Given the description of an element on the screen output the (x, y) to click on. 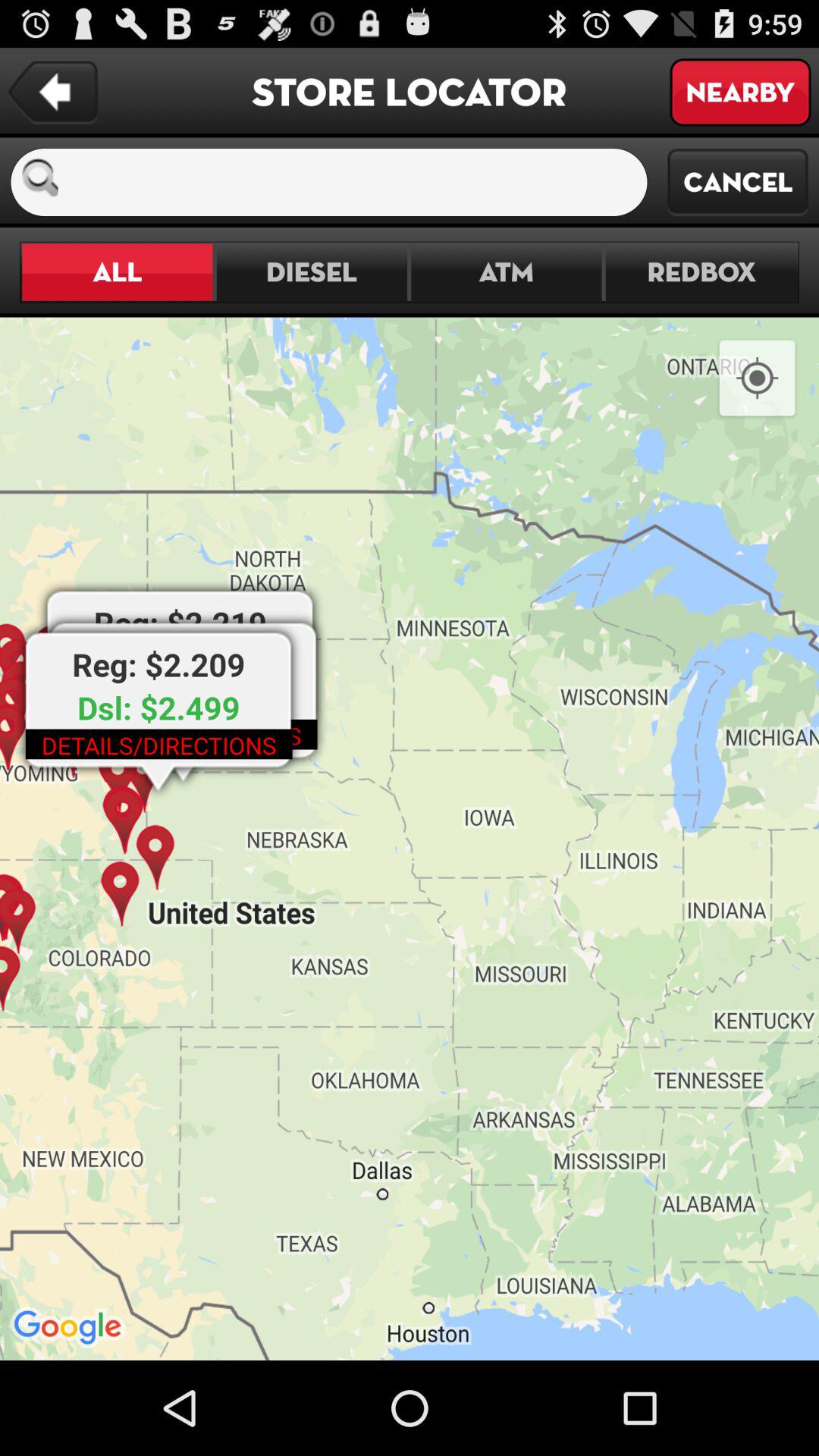
select all (117, 271)
